Given the description of an element on the screen output the (x, y) to click on. 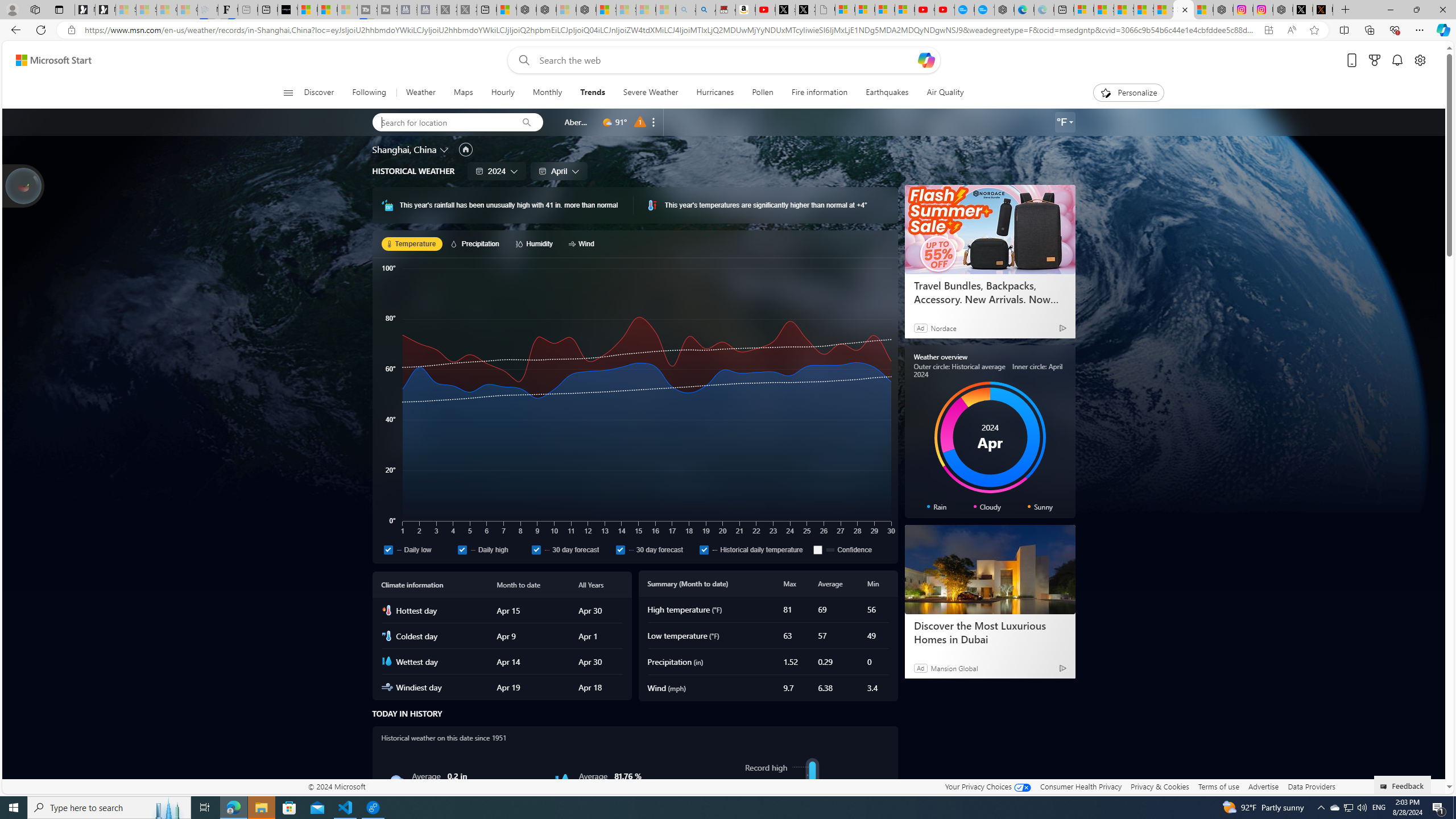
Terms of use (1218, 785)
Join us in planting real trees to help our planet! (23, 184)
Daily low (387, 549)
Air Quality (944, 92)
Hurricanes (715, 92)
Rain (396, 781)
Consumer Health Privacy (1080, 786)
Humidity (562, 781)
